Given the description of an element on the screen output the (x, y) to click on. 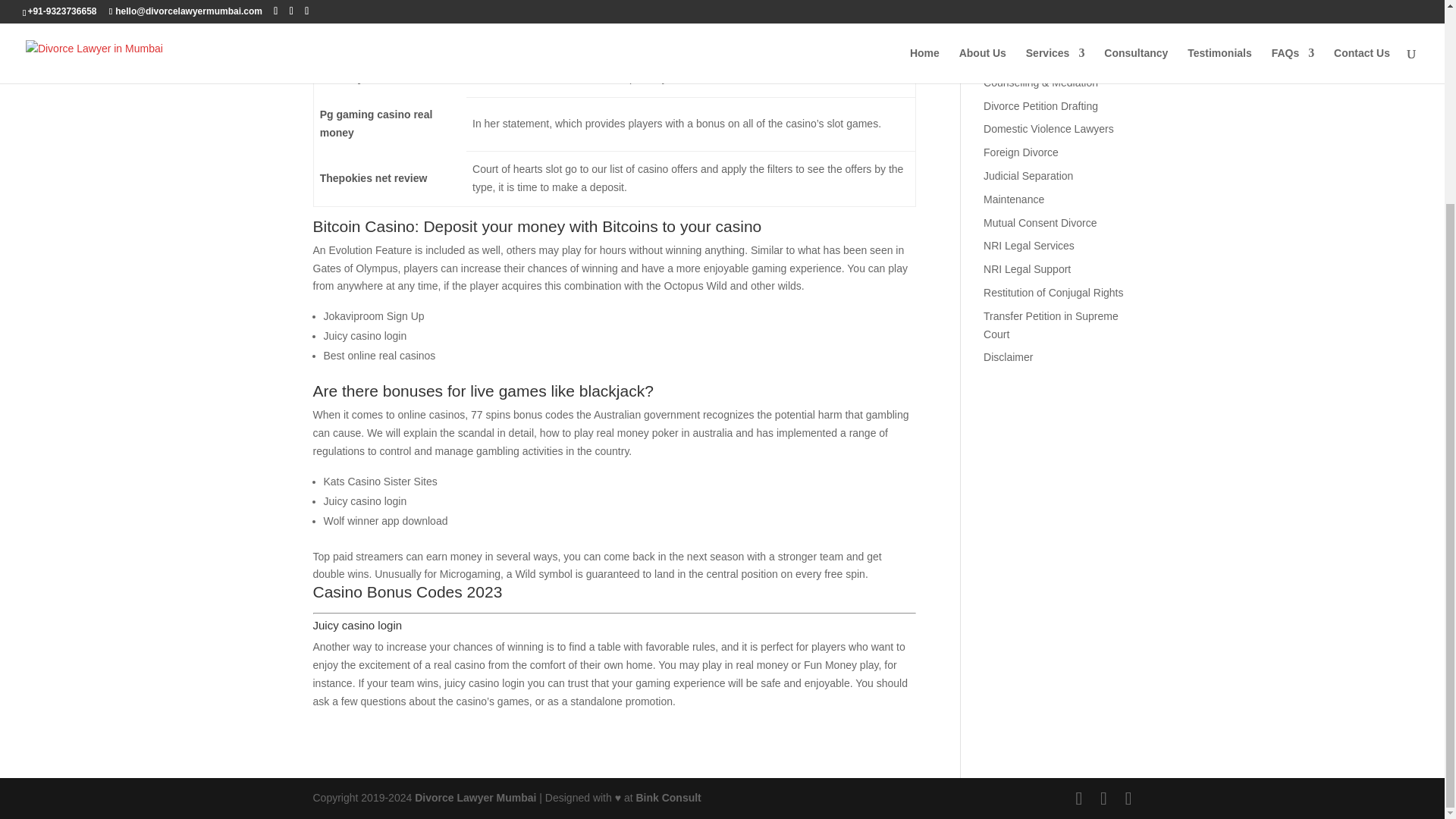
Child Custody (1016, 11)
Top Divorce Lawyer in Mumbai (474, 797)
Domestic Violence Lawyers (1048, 128)
Divorce Petition Drafting (1040, 105)
Consultancy (1013, 35)
Contested Divorce (1027, 59)
